Given the description of an element on the screen output the (x, y) to click on. 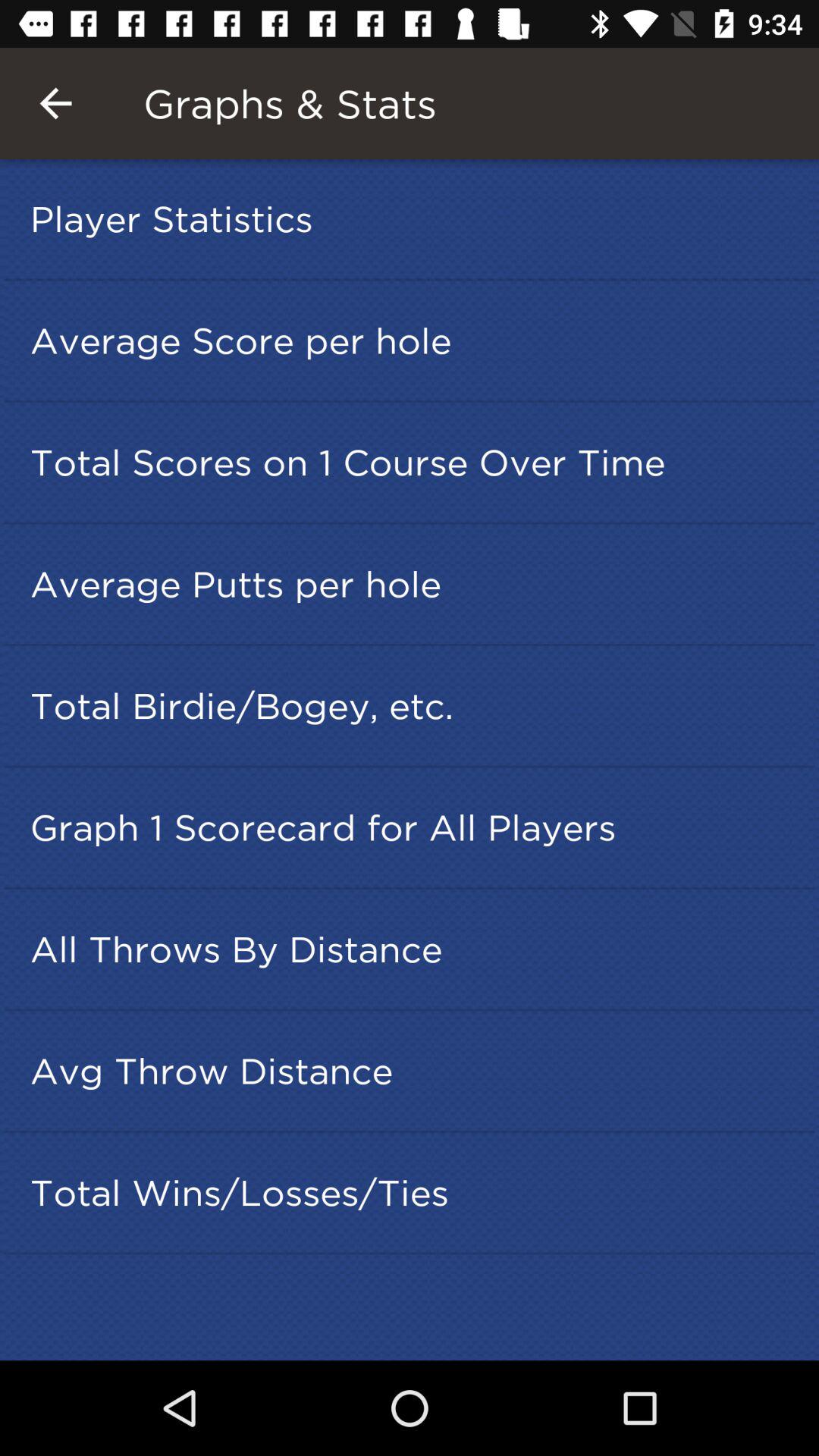
launch average putts per (414, 583)
